Given the description of an element on the screen output the (x, y) to click on. 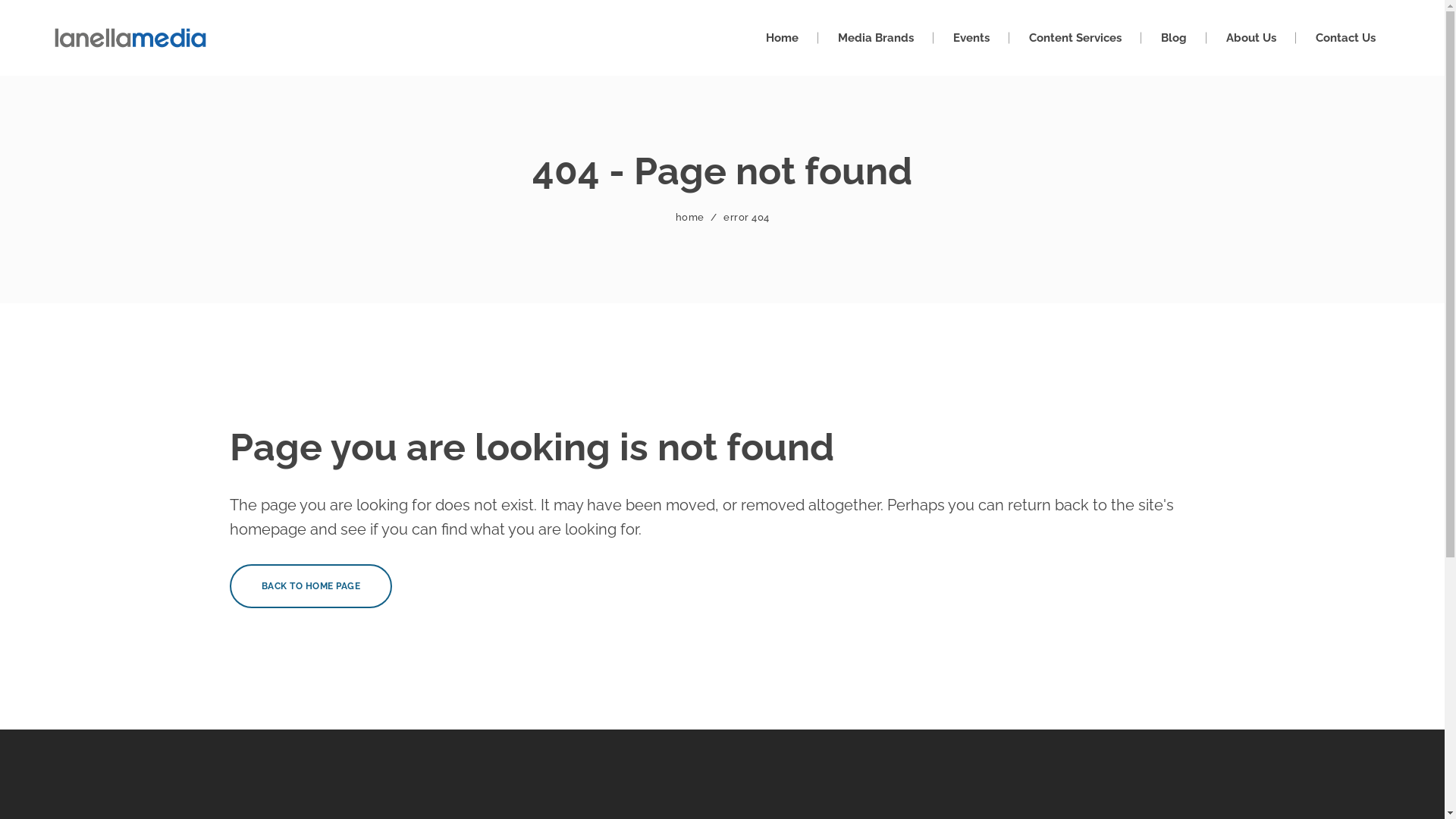
Content Services Element type: text (1075, 37)
Events Element type: text (971, 37)
BACK TO HOME PAGE Element type: text (310, 586)
home Element type: text (688, 217)
Blog Element type: text (1173, 37)
Home Element type: text (782, 37)
Contact Us Element type: text (1345, 37)
Media Brands Element type: text (875, 37)
About Us Element type: text (1250, 37)
